Given the description of an element on the screen output the (x, y) to click on. 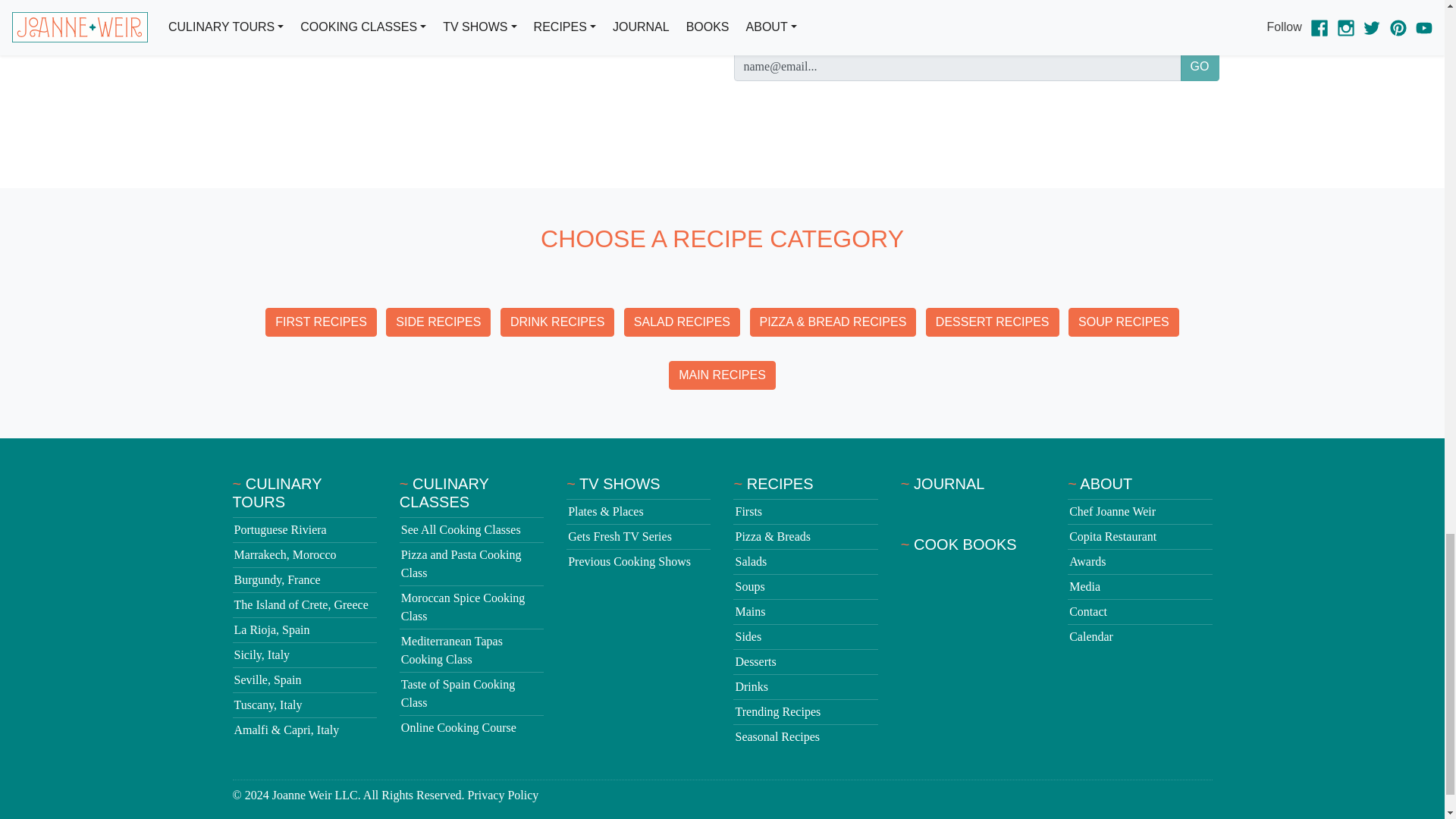
Go (1200, 66)
